Given the description of an element on the screen output the (x, y) to click on. 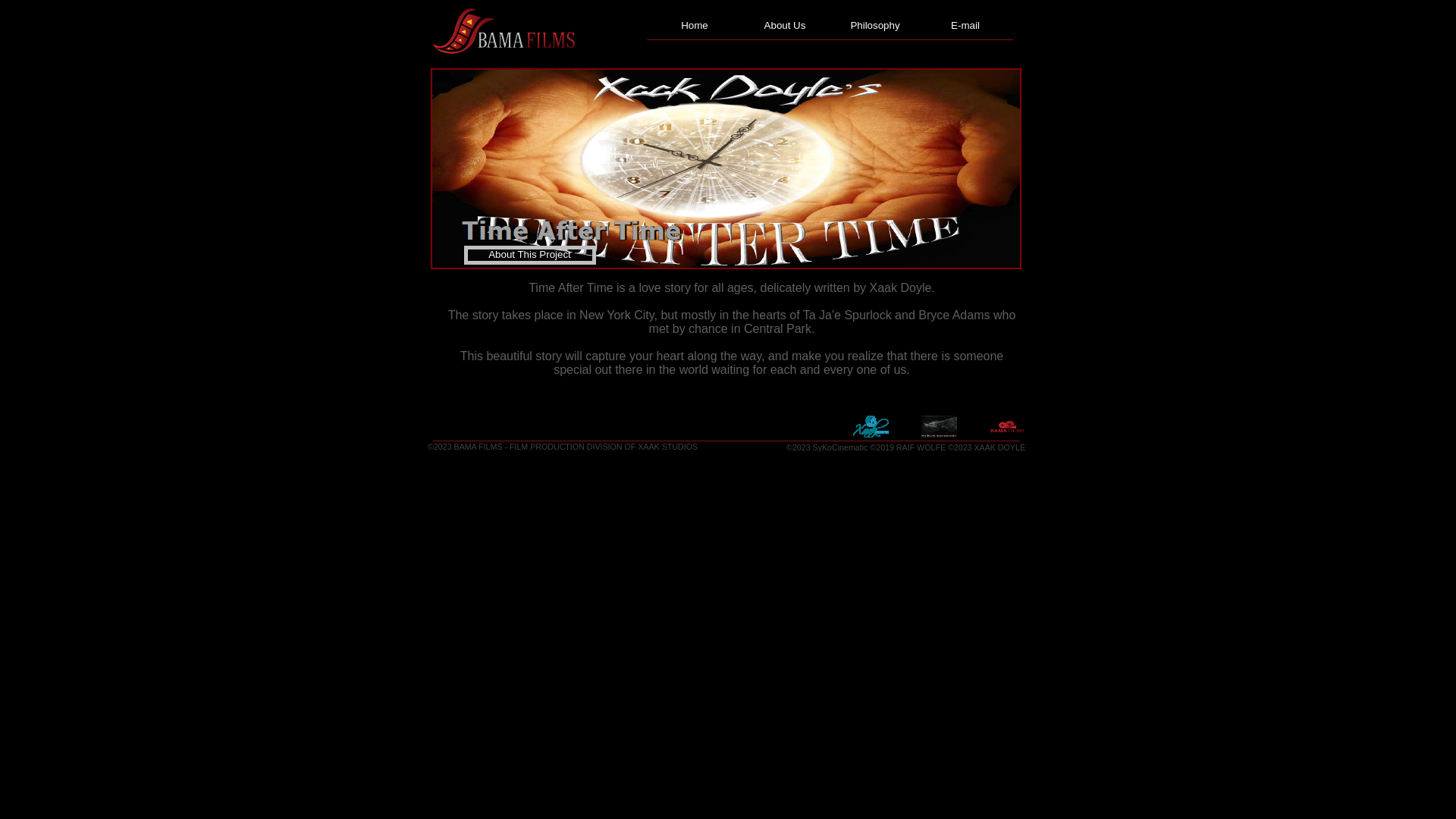
Philosophy (874, 25)
About Us (785, 25)
E-mail (964, 25)
Home (694, 25)
About This Project (528, 254)
